Given the description of an element on the screen output the (x, y) to click on. 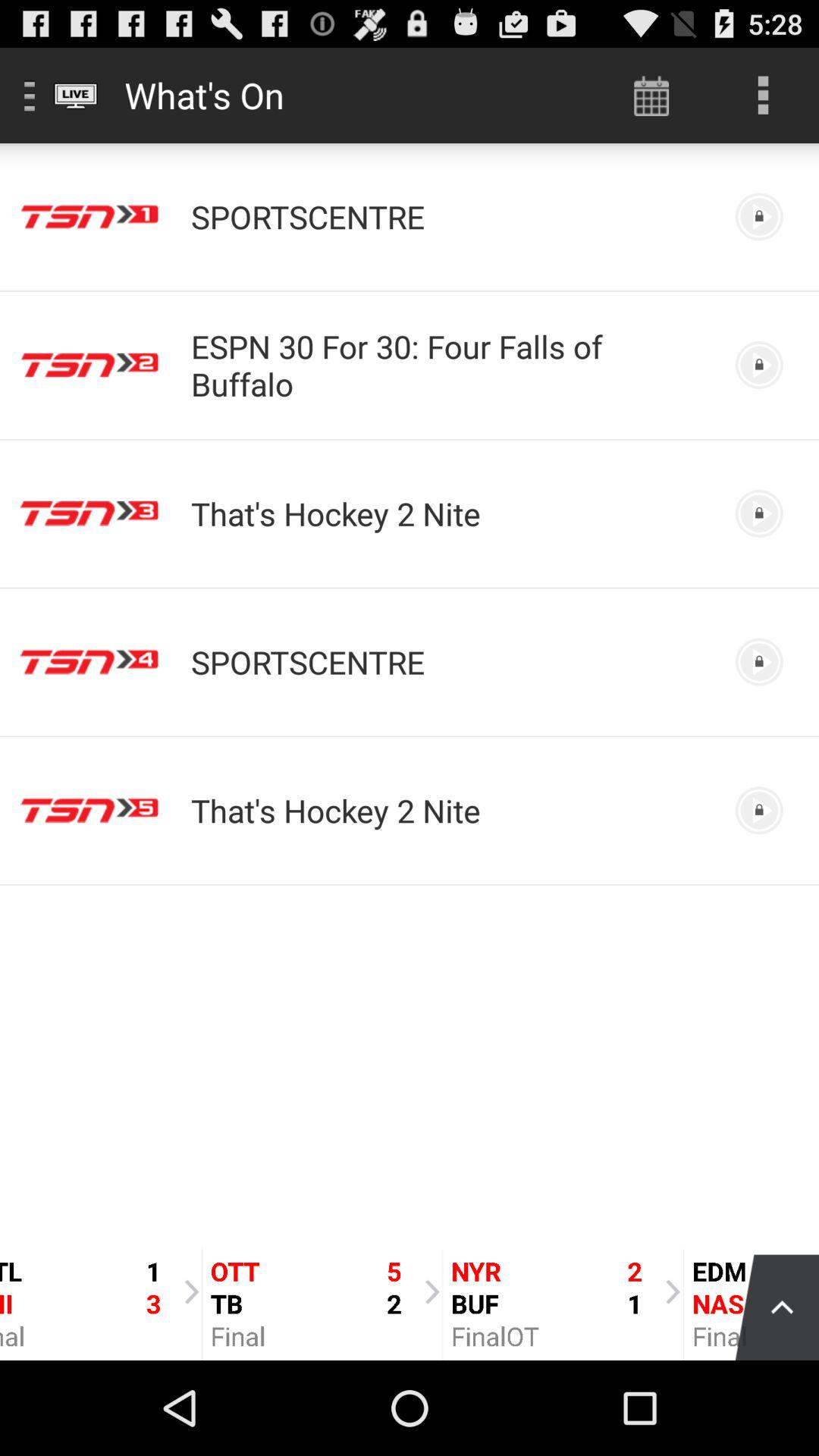
flip until the espn 30 for app (450, 364)
